Given the description of an element on the screen output the (x, y) to click on. 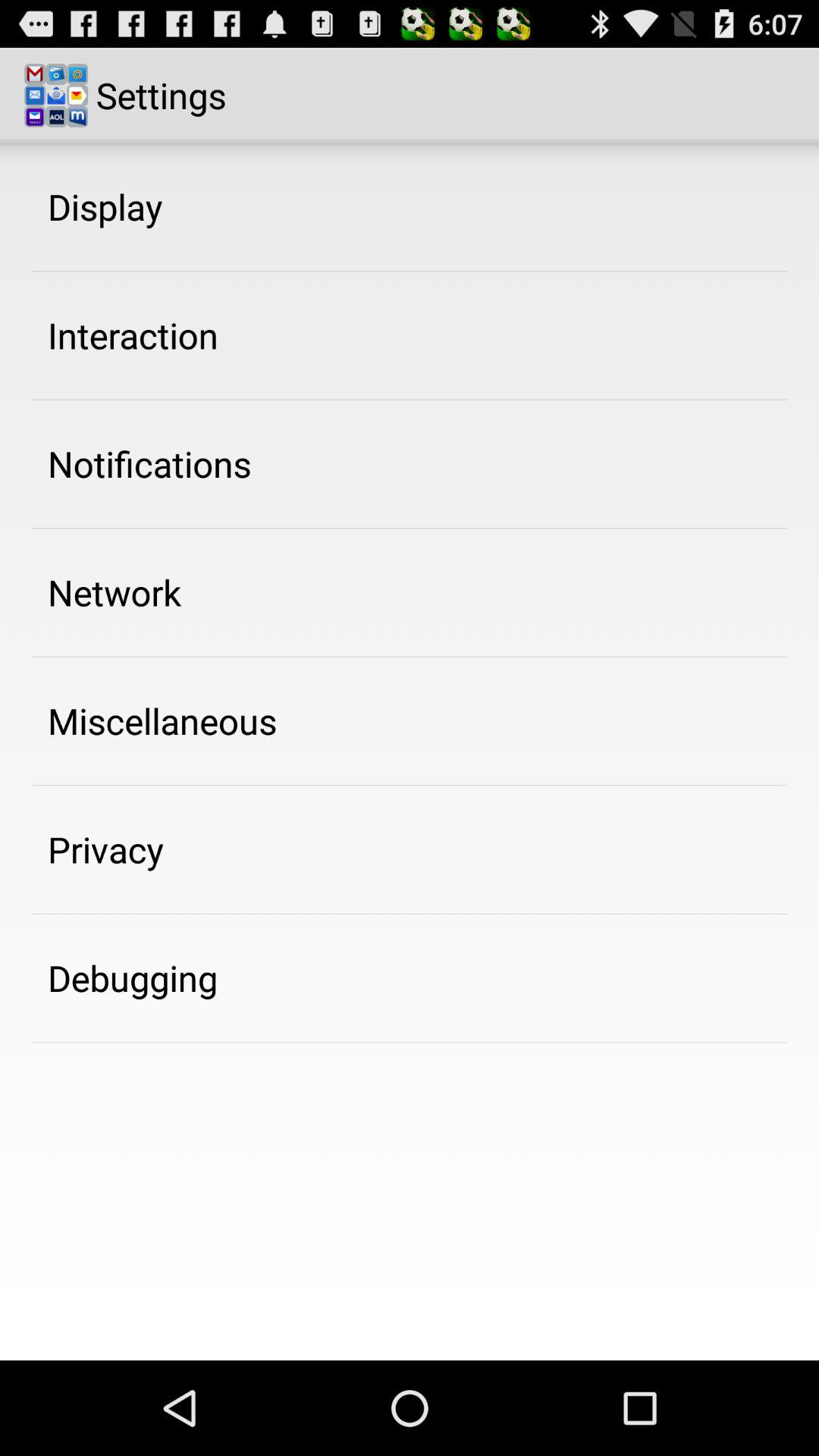
scroll to the network (114, 592)
